Given the description of an element on the screen output the (x, y) to click on. 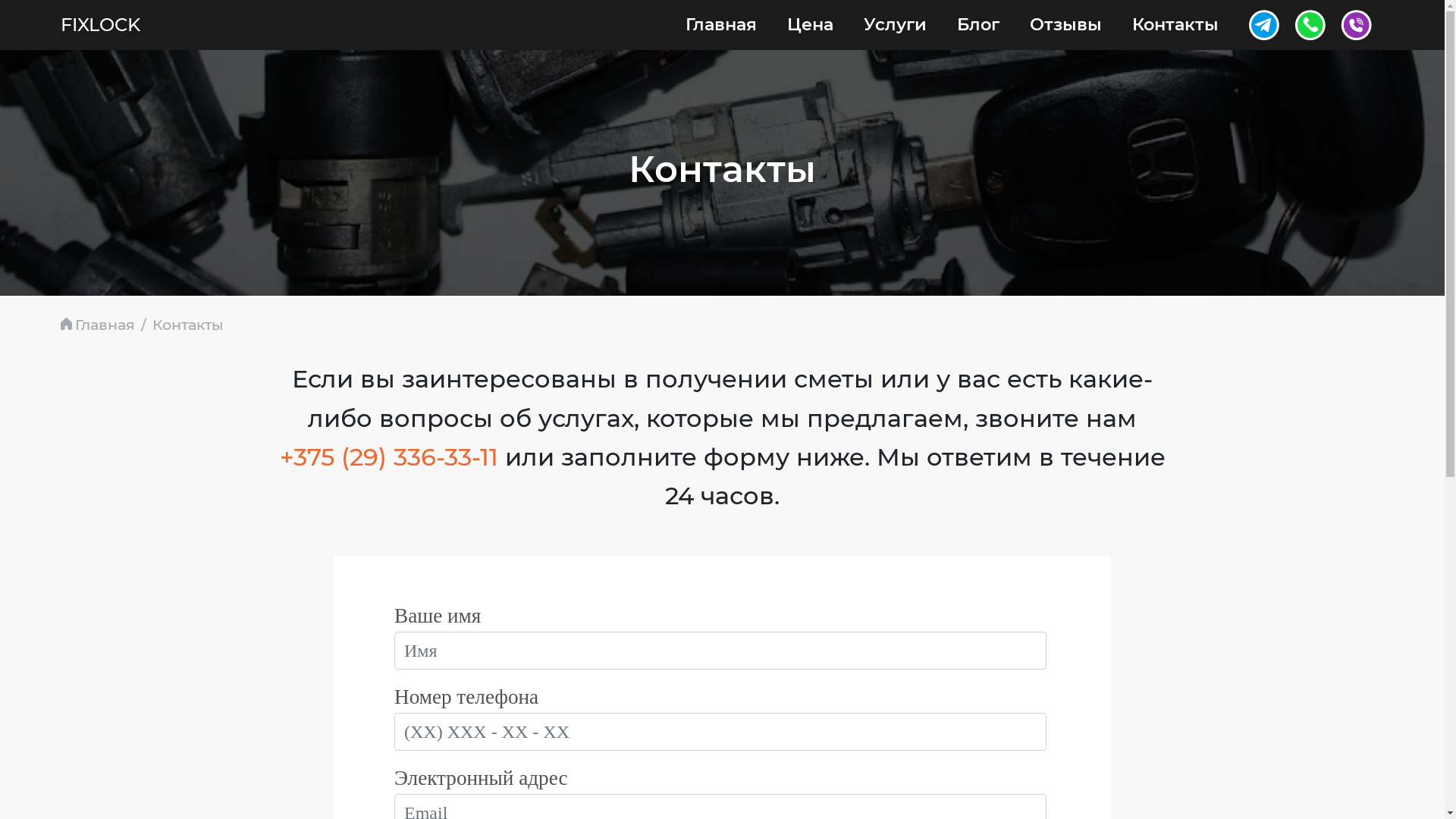
+375 (29) 336-33-11 Element type: text (388, 456)
FIXLOCK Element type: text (100, 24)
